Given the description of an element on the screen output the (x, y) to click on. 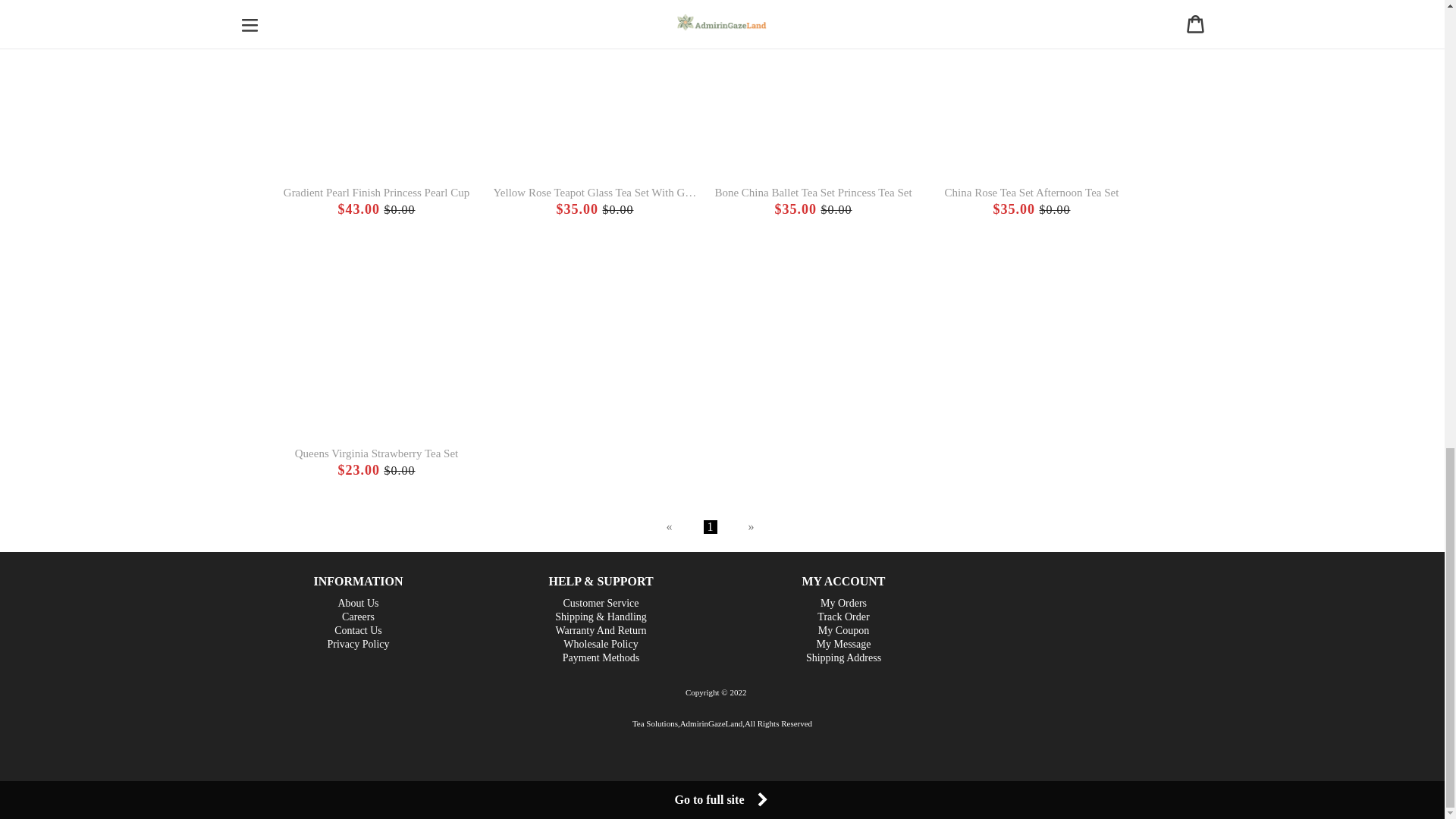
Careers (358, 616)
Contact Us (357, 630)
My Orders (843, 602)
About Us (357, 602)
About Us (357, 602)
INFORMATION (358, 581)
Payment Methods (601, 657)
Wholesale Policy (600, 643)
